Given the description of an element on the screen output the (x, y) to click on. 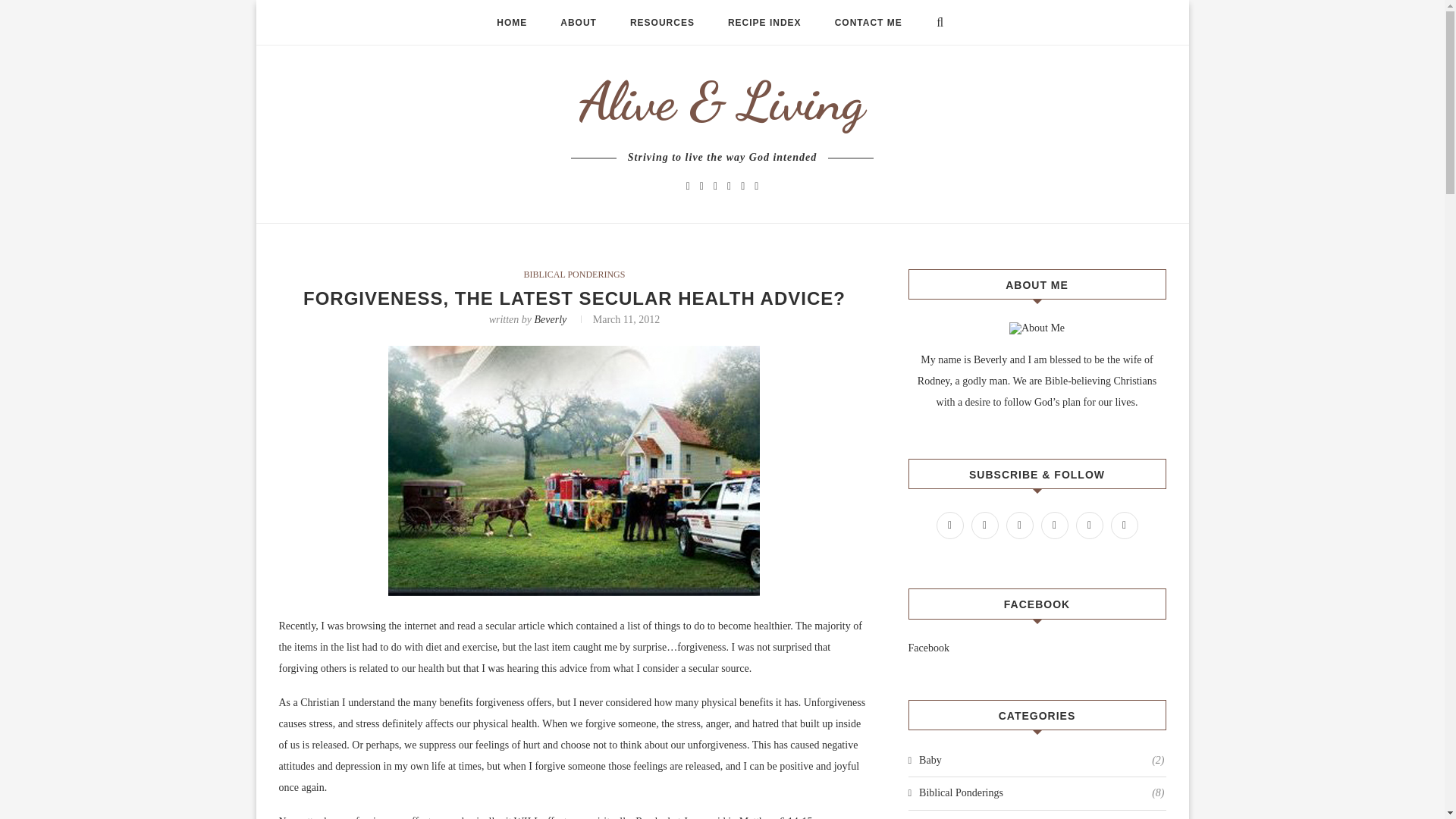
View all posts in Biblical Ponderings (575, 274)
RESOURCES (662, 22)
RECIPE INDEX (765, 22)
